Given the description of an element on the screen output the (x, y) to click on. 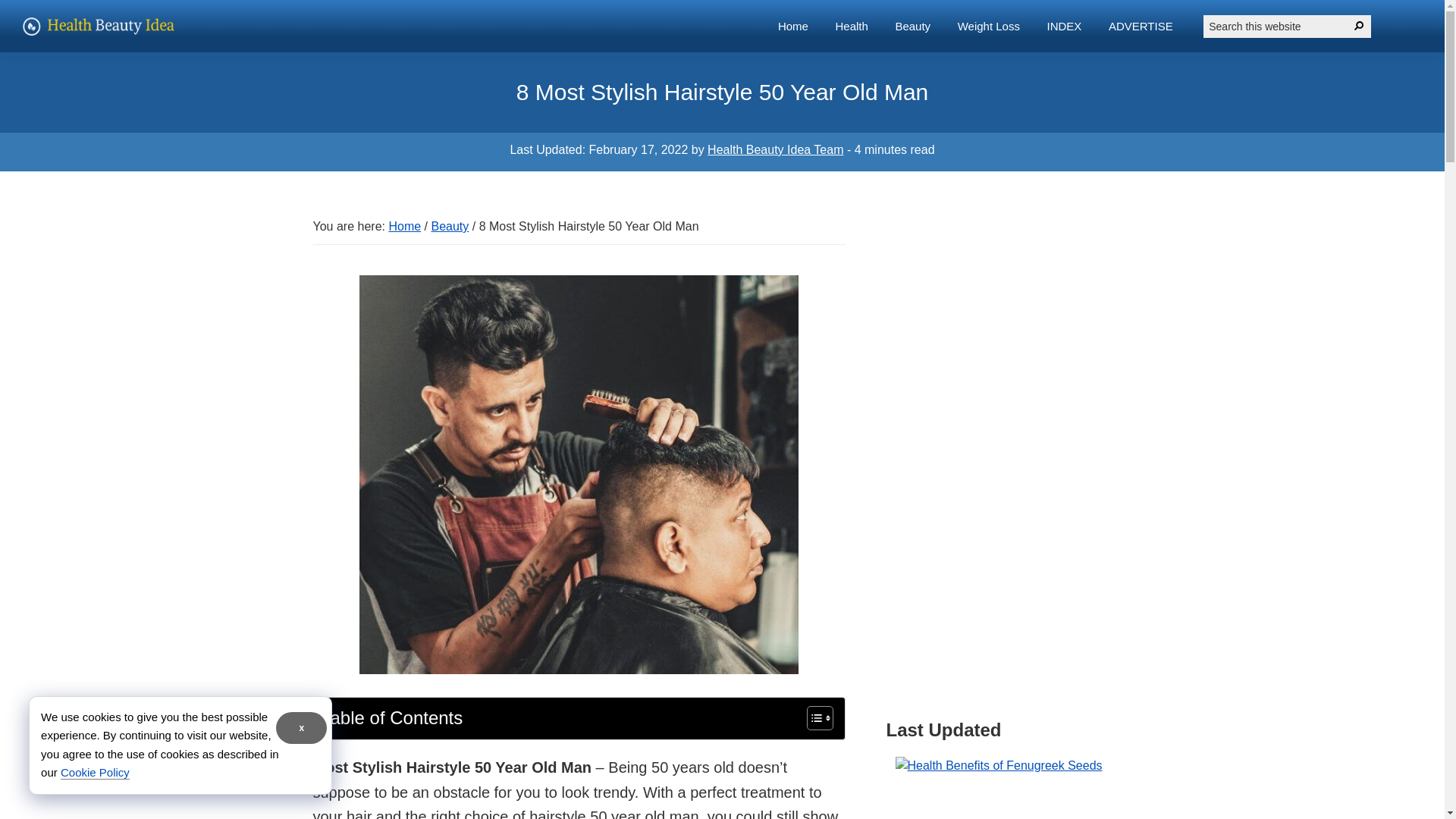
Weight Loss (988, 25)
Health (851, 25)
ADVERTISE (1141, 25)
INDEX (1064, 25)
Health Beauty Idea Team (775, 149)
Home (404, 226)
Beauty (449, 226)
Search (1358, 26)
Beauty (912, 25)
